Given the description of an element on the screen output the (x, y) to click on. 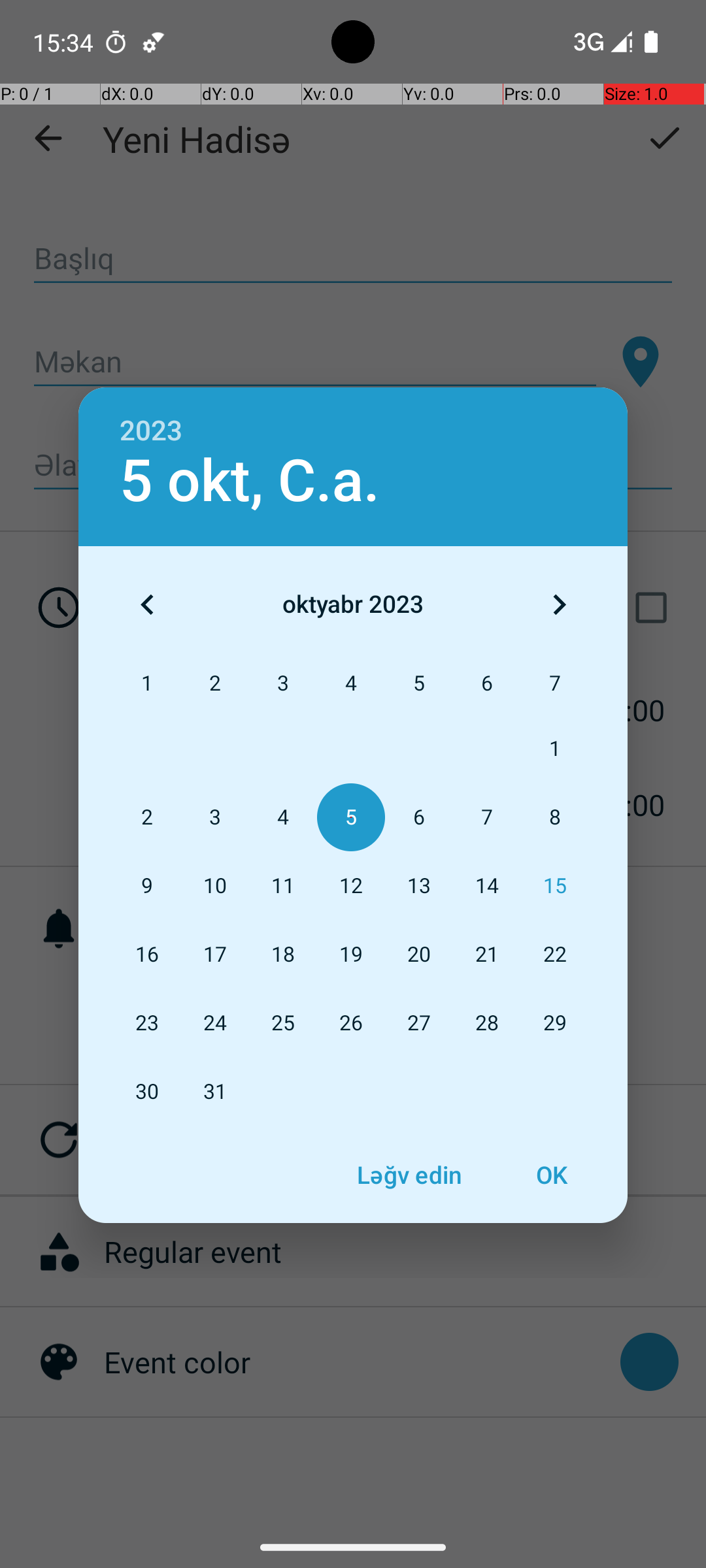
5 okt, C.a. Element type: android.widget.TextView (249, 480)
Keçən ay Element type: android.widget.ImageButton (146, 604)
Gələn ay Element type: android.widget.ImageButton (558, 604)
Ləğv edin Element type: android.widget.Button (409, 1174)
